Given the description of an element on the screen output the (x, y) to click on. 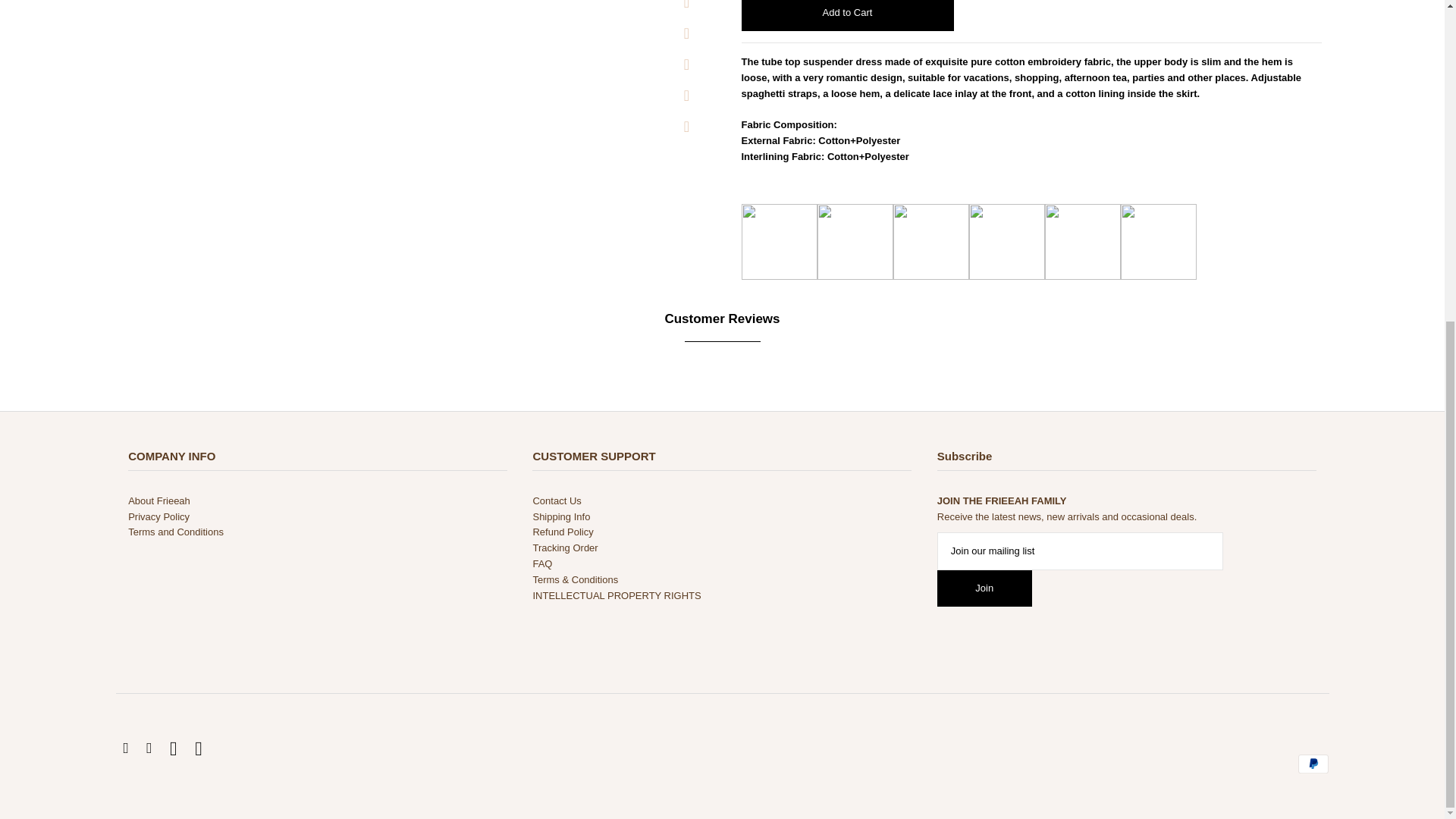
Join (984, 588)
PayPal (1312, 763)
Add to Cart (847, 15)
